Given the description of an element on the screen output the (x, y) to click on. 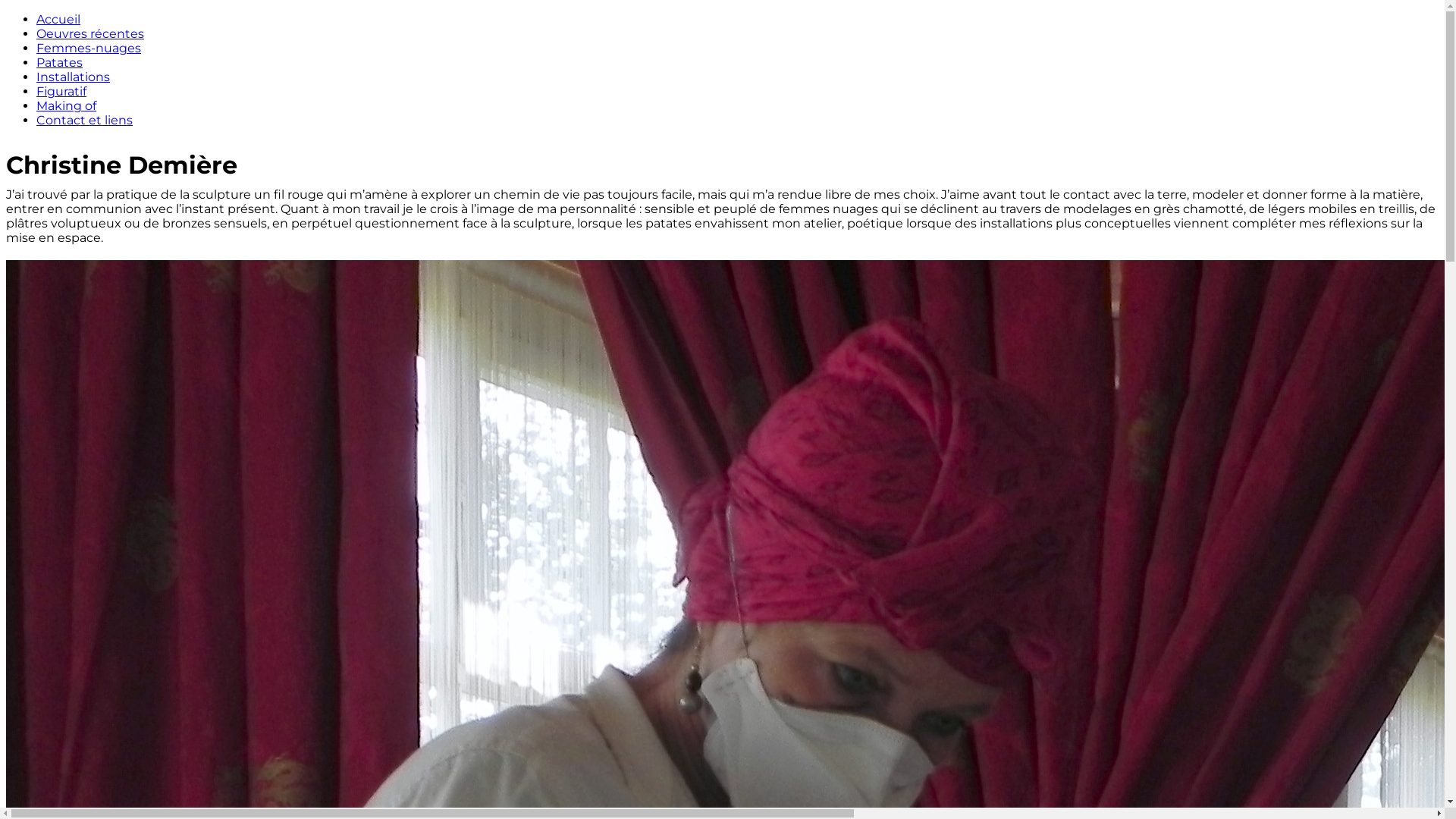
Contact et liens Element type: text (84, 119)
Making of Element type: text (66, 105)
Patates Element type: text (59, 62)
Femmes-nuages Element type: text (88, 47)
Installations Element type: text (72, 76)
Accueil Element type: text (58, 19)
Figuratif Element type: text (61, 91)
